Given the description of an element on the screen output the (x, y) to click on. 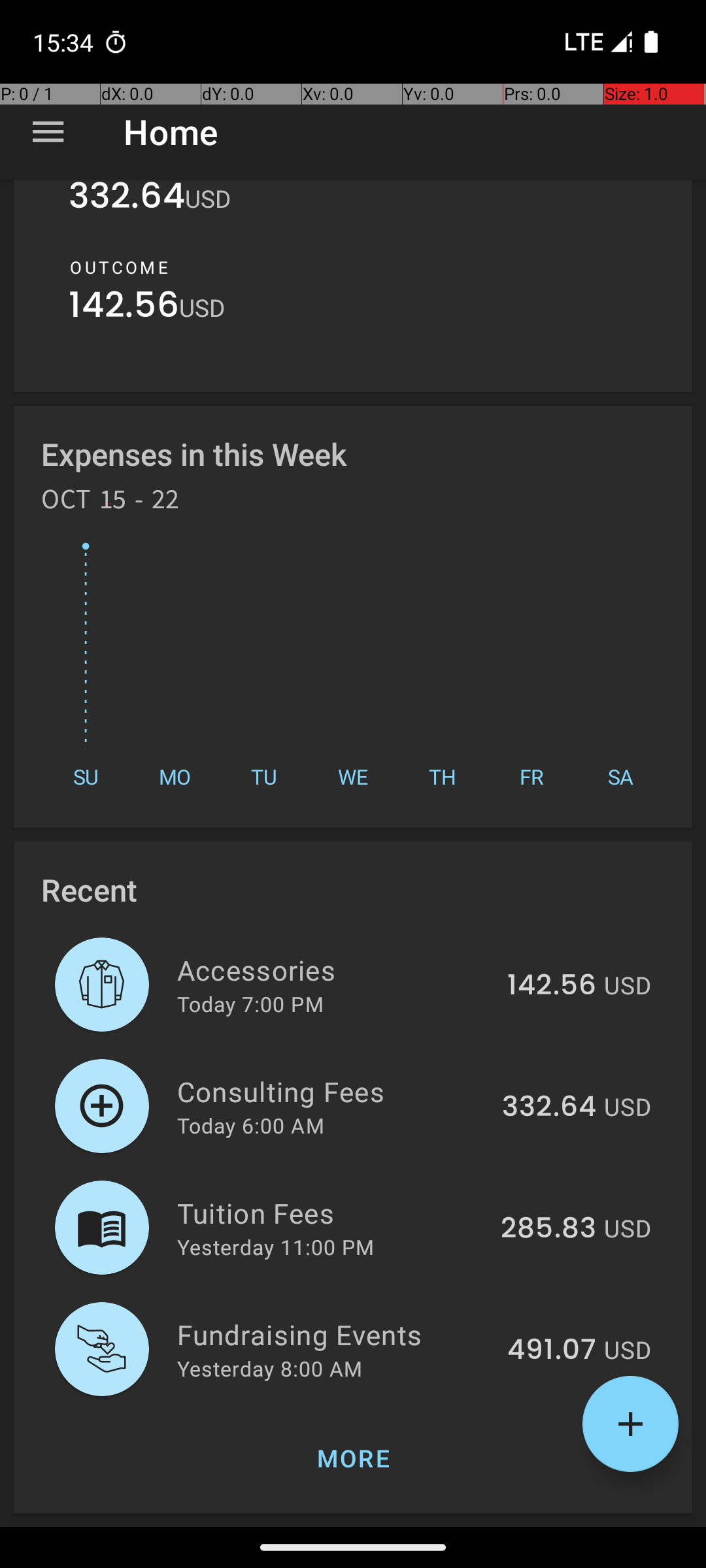
332.64 Element type: android.widget.TextView (126, 203)
142.56 Element type: android.widget.TextView (123, 307)
Accessories Element type: android.widget.TextView (334, 969)
Consulting Fees Element type: android.widget.TextView (331, 1091)
Today 6:00 AM Element type: android.widget.TextView (250, 1125)
Tuition Fees Element type: android.widget.TextView (331, 1212)
Yesterday 11:00 PM Element type: android.widget.TextView (275, 1246)
285.83 Element type: android.widget.TextView (548, 1228)
Fundraising Events Element type: android.widget.TextView (334, 1334)
Yesterday 8:00 AM Element type: android.widget.TextView (269, 1368)
491.07 Element type: android.widget.TextView (551, 1350)
